Given the description of an element on the screen output the (x, y) to click on. 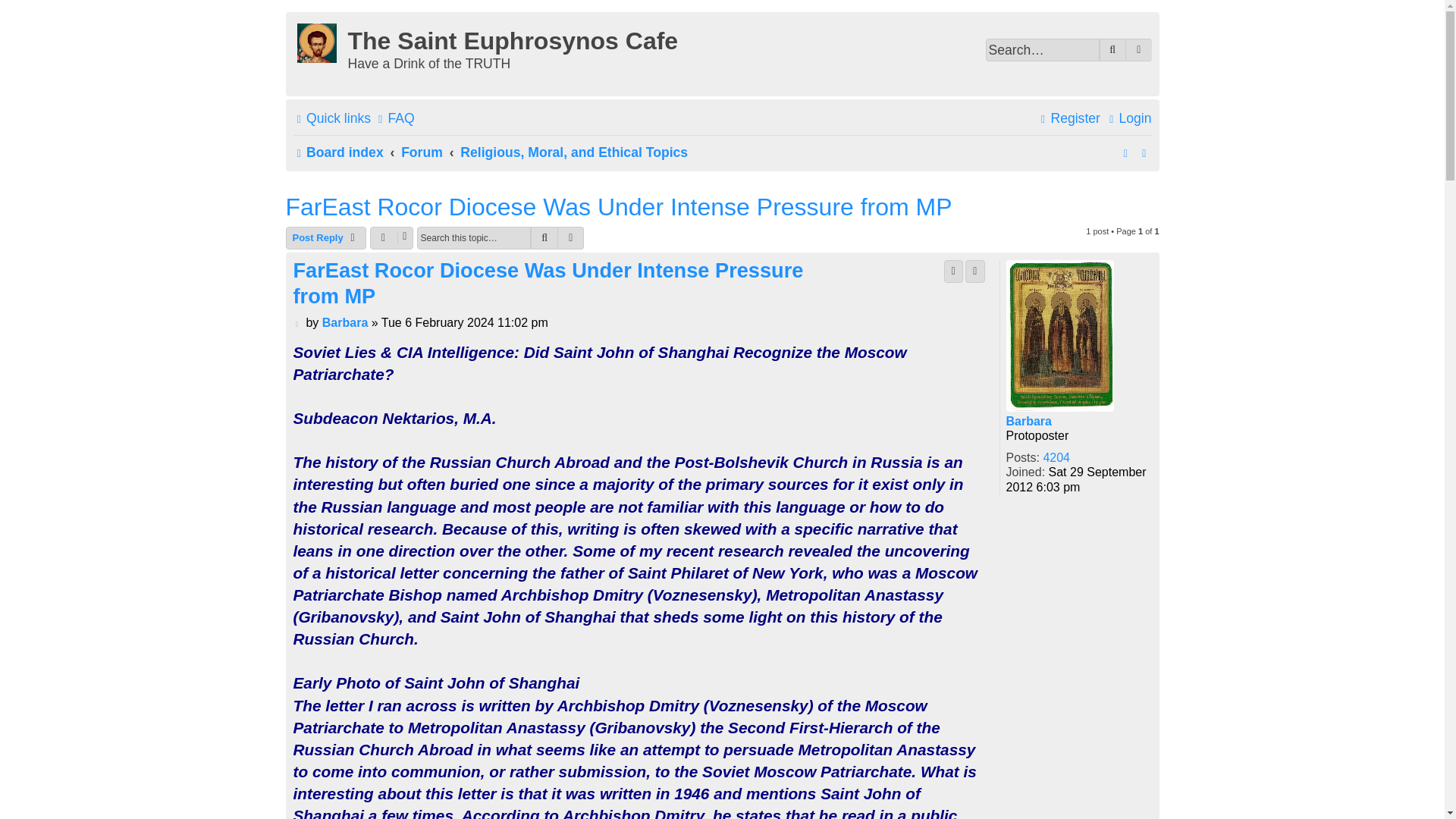
FAQ (394, 118)
Frequently Asked Questions (394, 118)
Religious, Moral, and Ethical Topics (573, 152)
Quick links (331, 118)
Search (1112, 49)
FarEast Rocor Diocese Was Under Intense Pressure from MP (618, 207)
Register (1068, 118)
Login (1128, 118)
Advanced search (1138, 49)
Advanced search (571, 237)
